Given the description of an element on the screen output the (x, y) to click on. 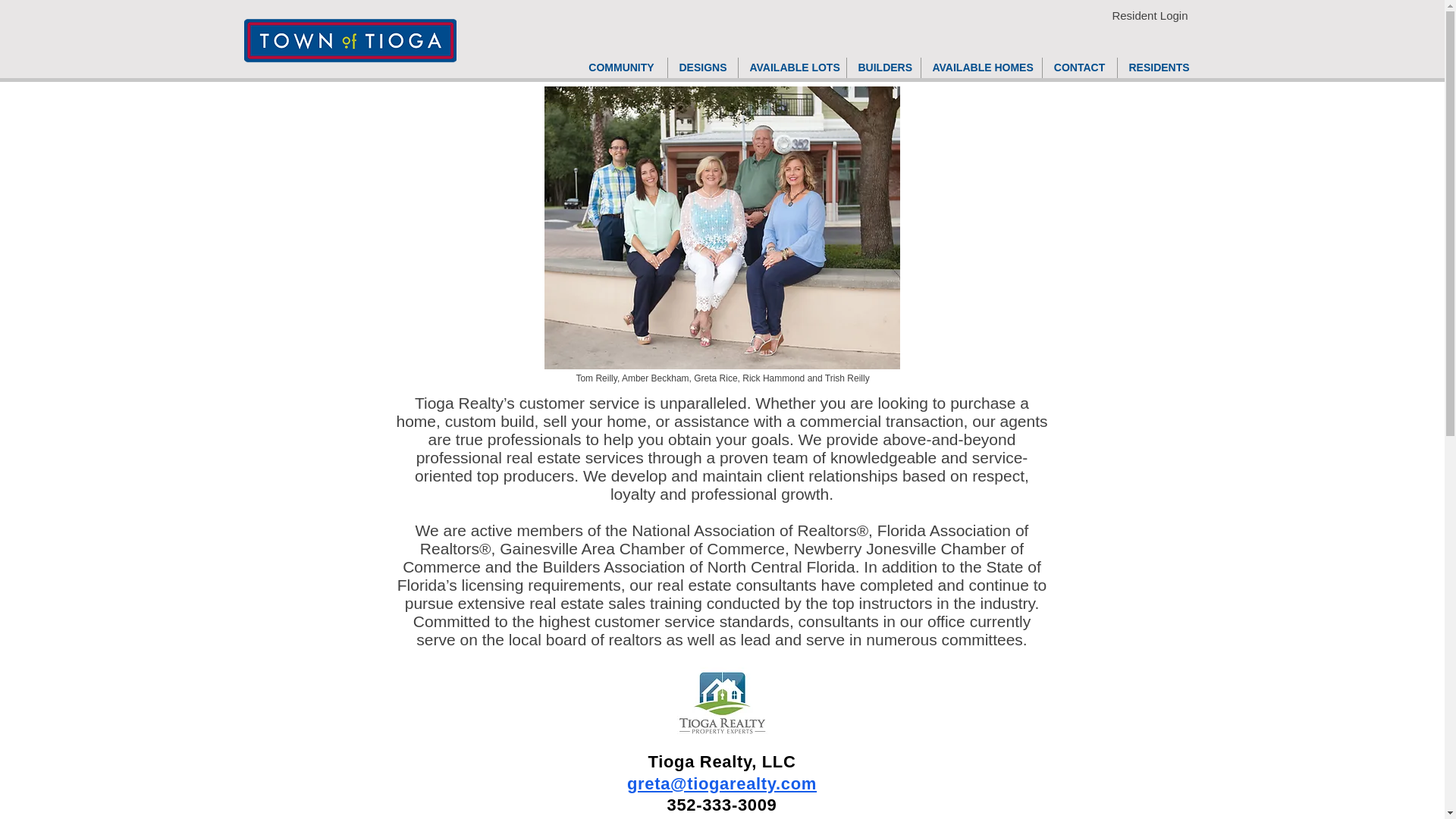
DESIGNS (701, 67)
AVAILABLE HOMES (980, 67)
CONTACT (1079, 67)
COMMUNITY (621, 67)
AVAILABLE LOTS (791, 67)
RESIDENTS (1158, 67)
BUILDERS (882, 67)
Resident Login (1149, 15)
